Given the description of an element on the screen output the (x, y) to click on. 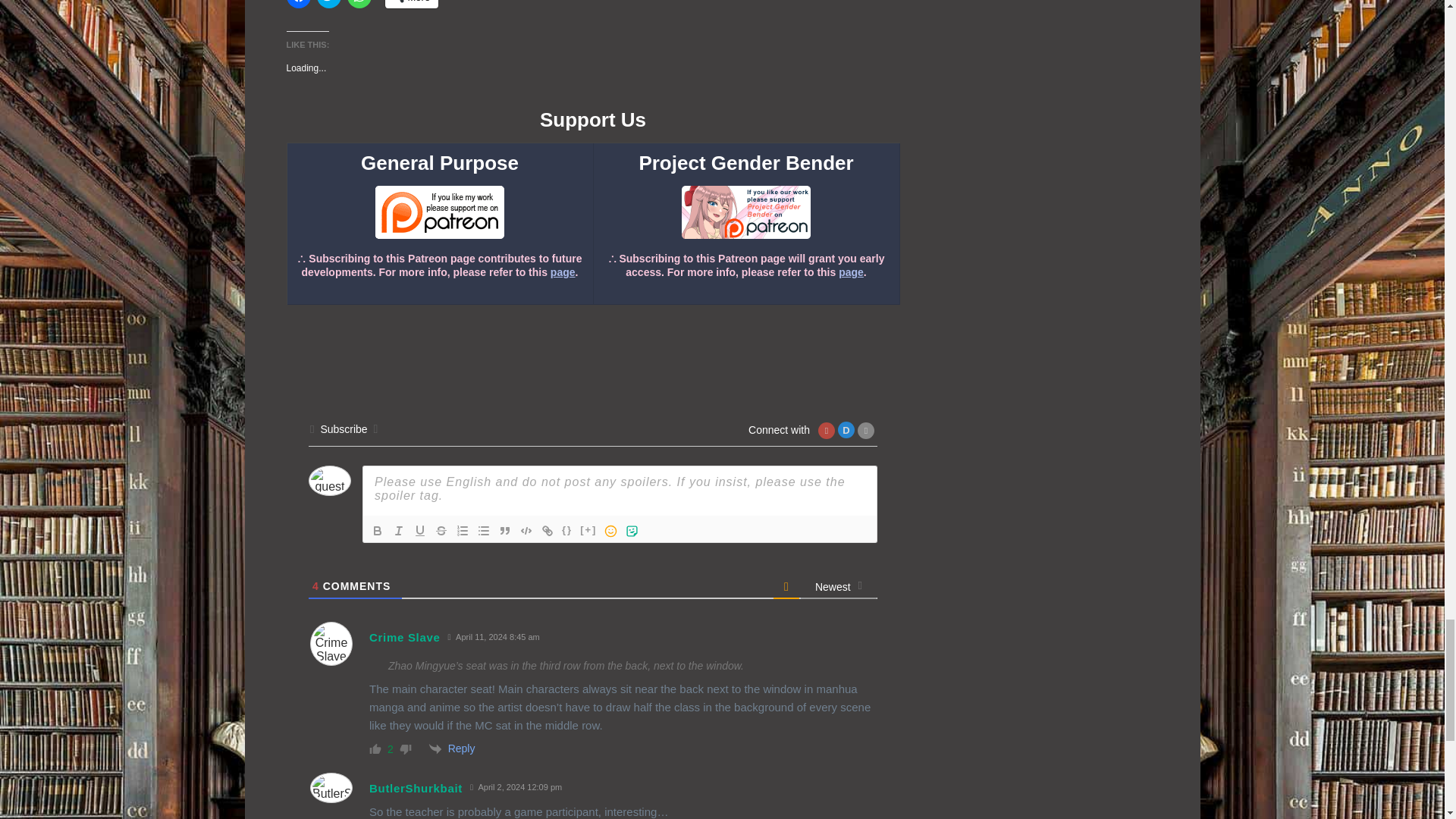
Click to share on Facebook (298, 4)
Click to share on WhatsApp (359, 4)
Click to share on Twitter (328, 4)
